Given the description of an element on the screen output the (x, y) to click on. 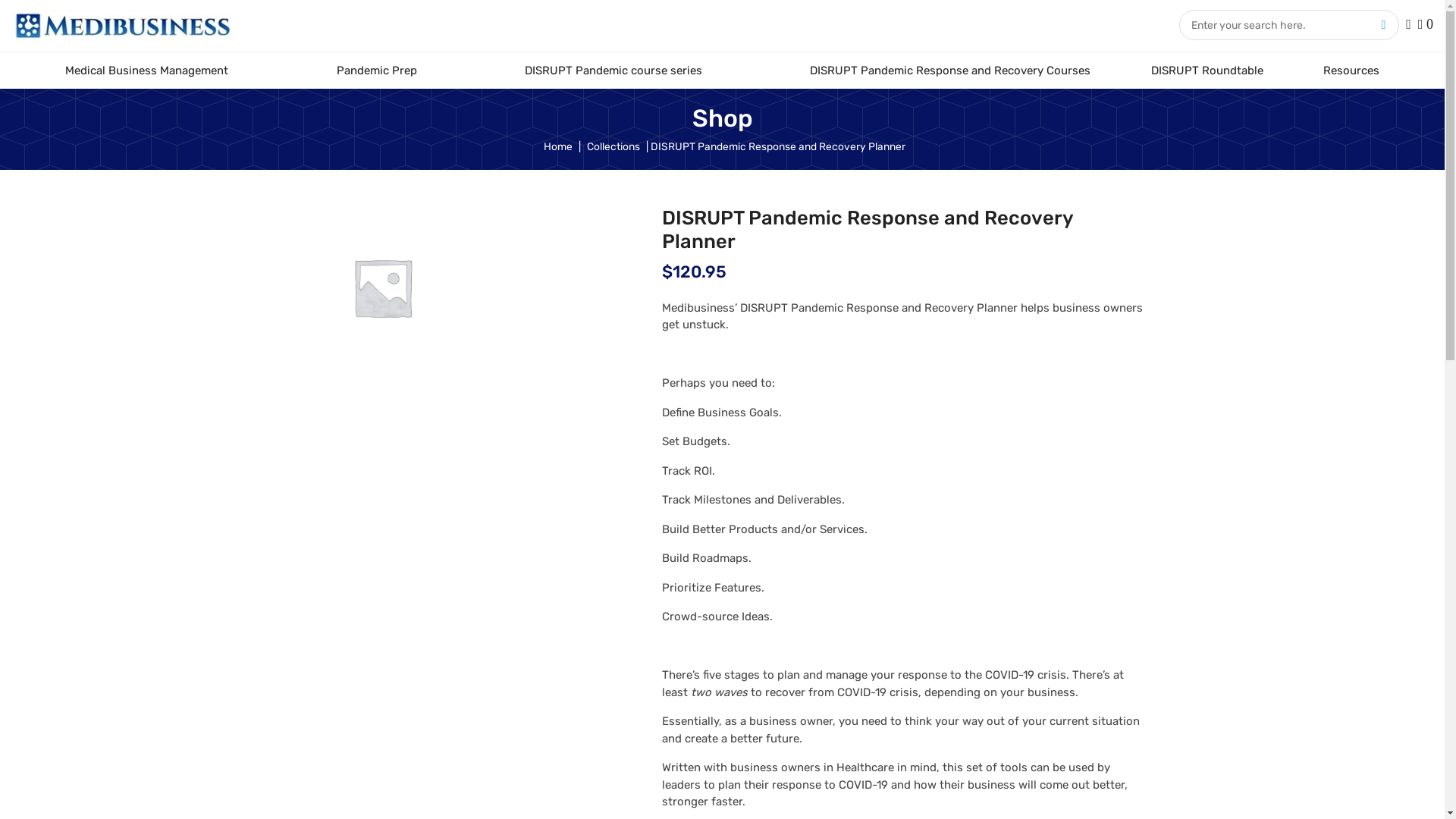
Resources Element type: text (1351, 70)
Medical Business Management Element type: text (146, 70)
0 Element type: text (1425, 24)
Pandemic Prep Element type: text (376, 70)
Collections Element type: text (613, 146)
DISRUPT Pandemic course series Element type: text (613, 70)
Home Element type: text (556, 146)
DISRUPT Pandemic Response and Recovery Courses Element type: text (950, 70)
woocommerce-placeholder Element type: hover (382, 287)
DISRUPT Roundtable Element type: text (1207, 70)
